Given the description of an element on the screen output the (x, y) to click on. 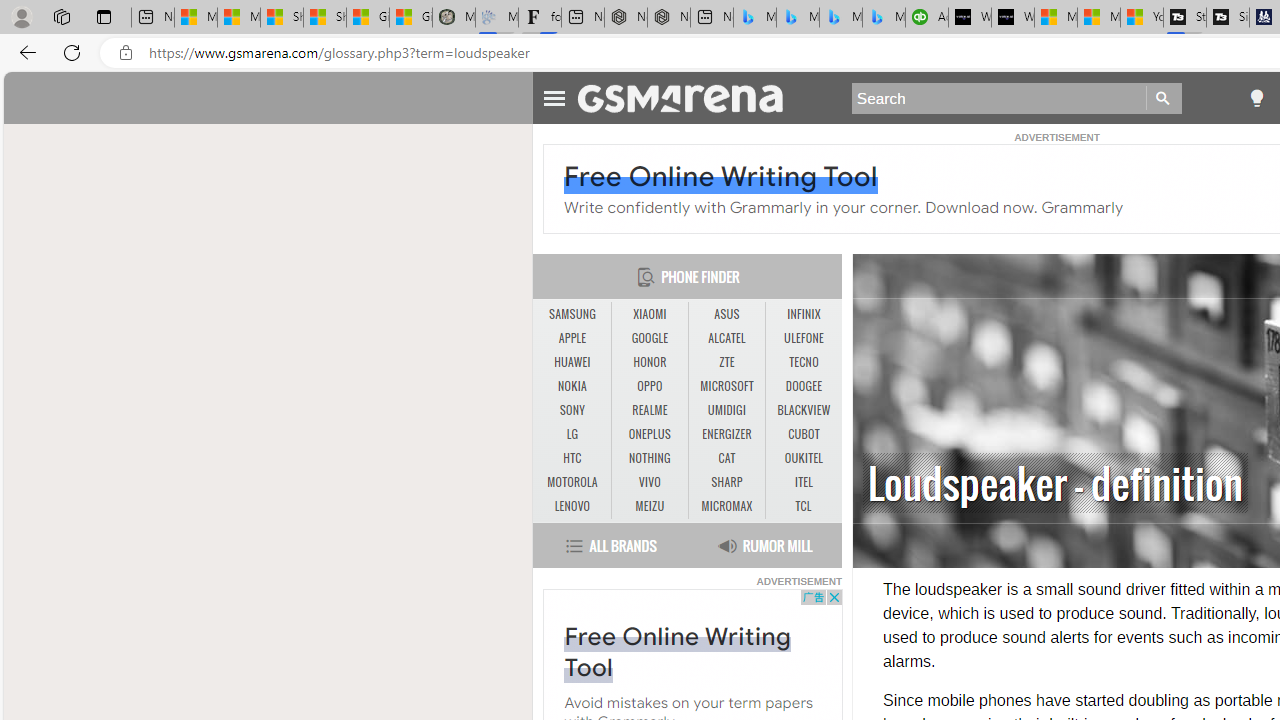
MICROSOFT (726, 386)
MICROSOFT (726, 385)
